Given the description of an element on the screen output the (x, y) to click on. 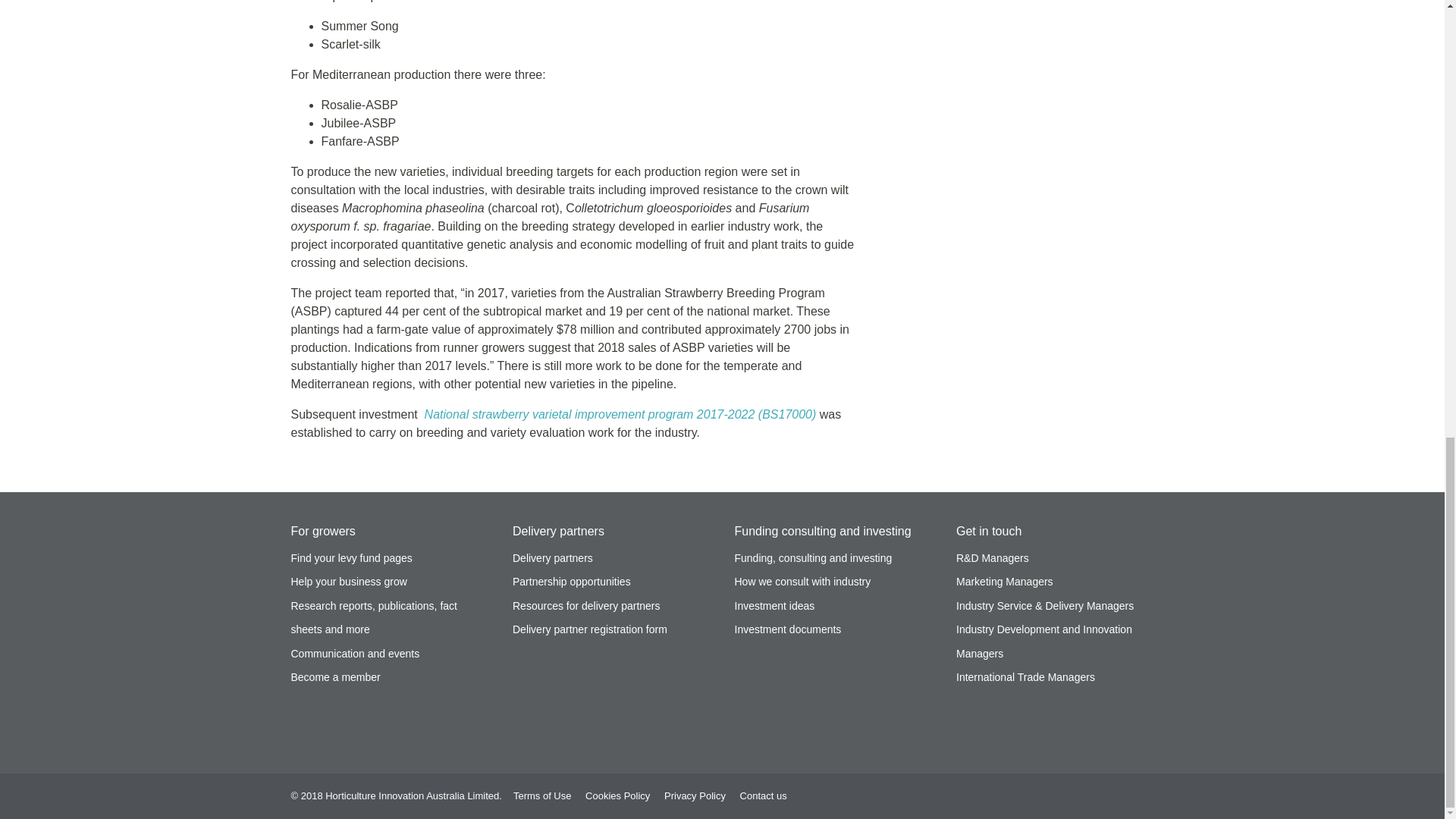
BS17000 (620, 413)
